Given the description of an element on the screen output the (x, y) to click on. 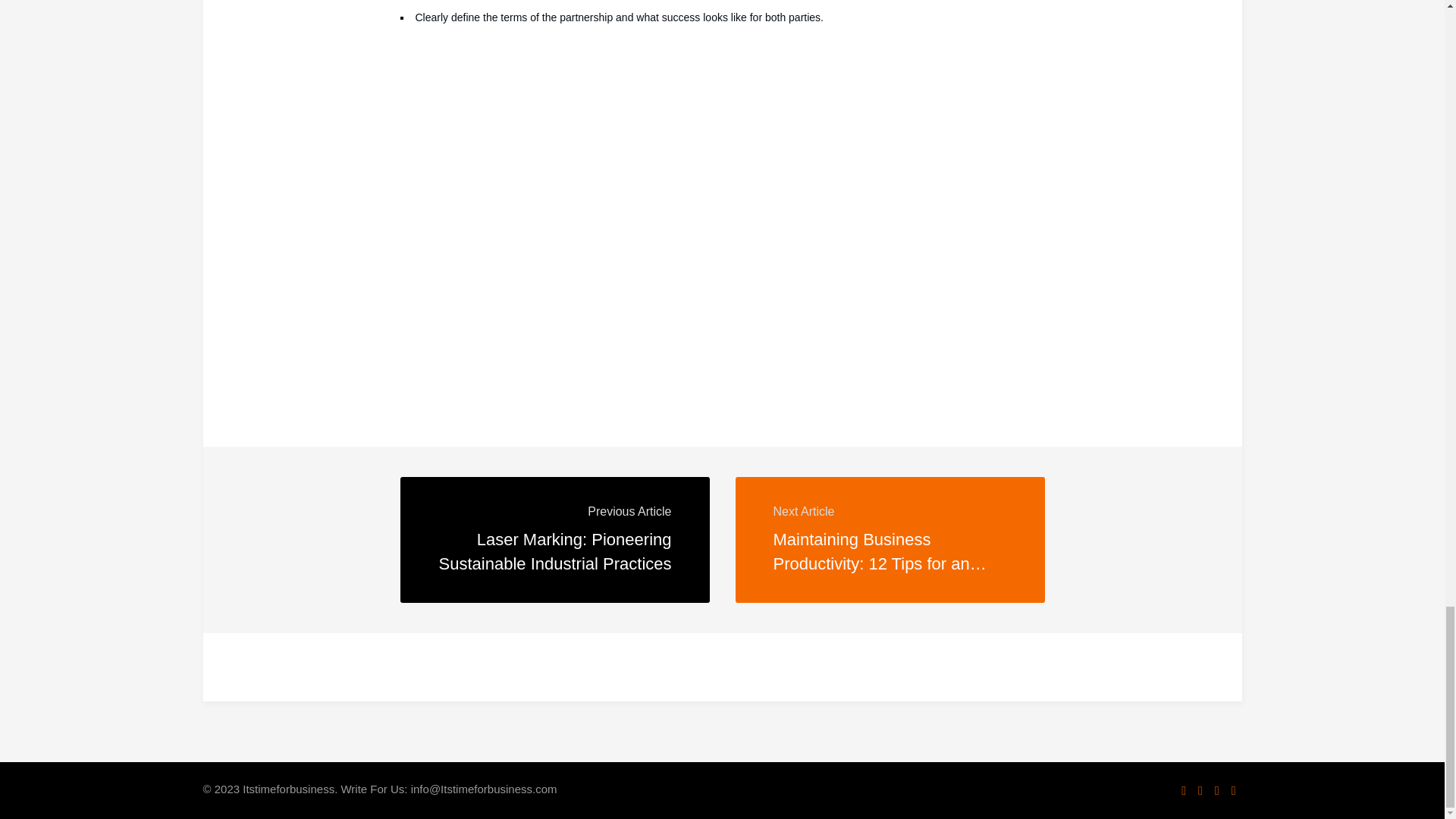
Laser Marking: Pioneering Sustainable Industrial Practices (555, 551)
